Given the description of an element on the screen output the (x, y) to click on. 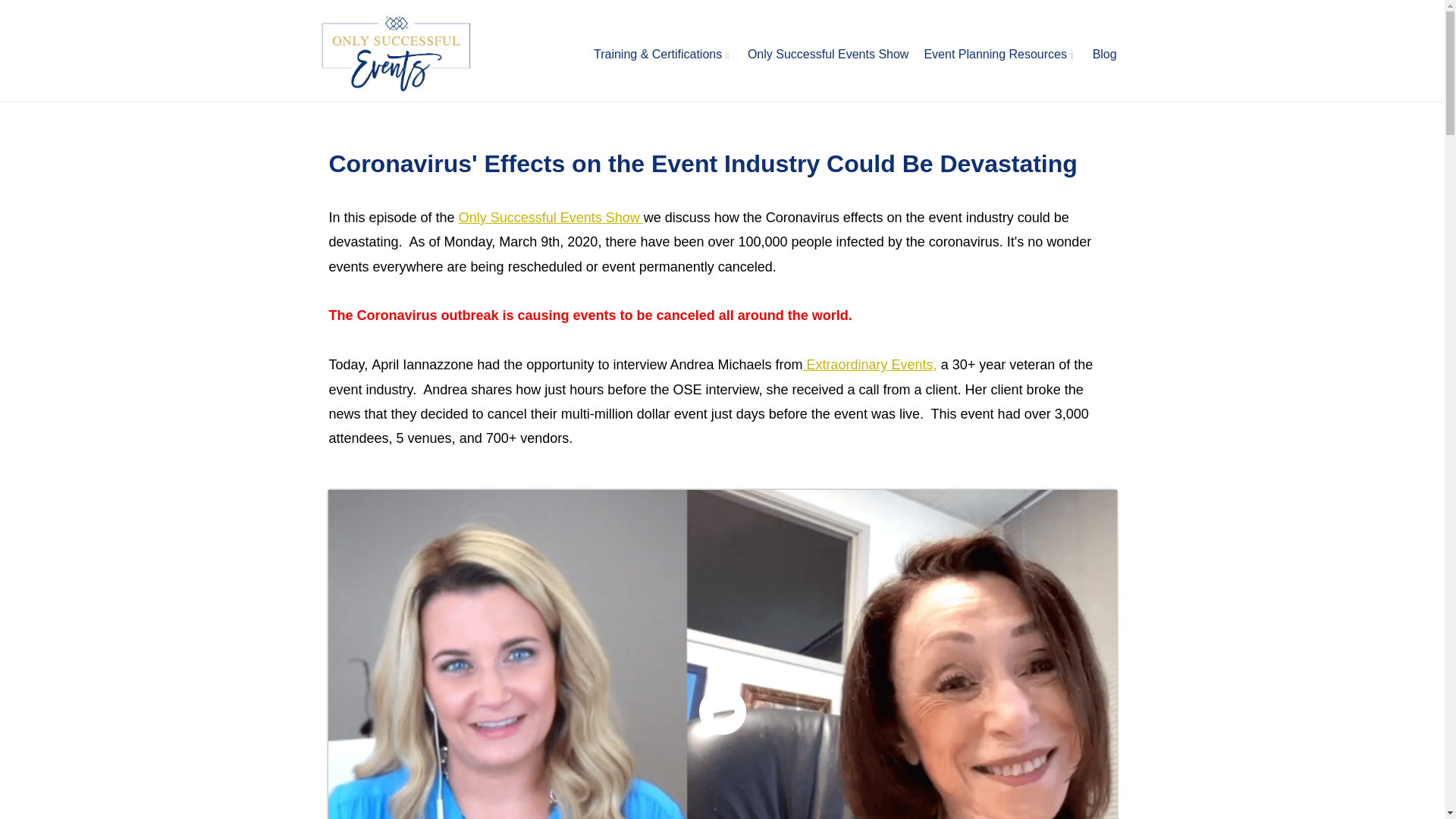
Blog (1104, 54)
Only Successful Events Show (550, 217)
Only Successful Events Show (828, 54)
Event Planning Resources (1000, 54)
Extraordinary Events, (870, 364)
